Given the description of an element on the screen output the (x, y) to click on. 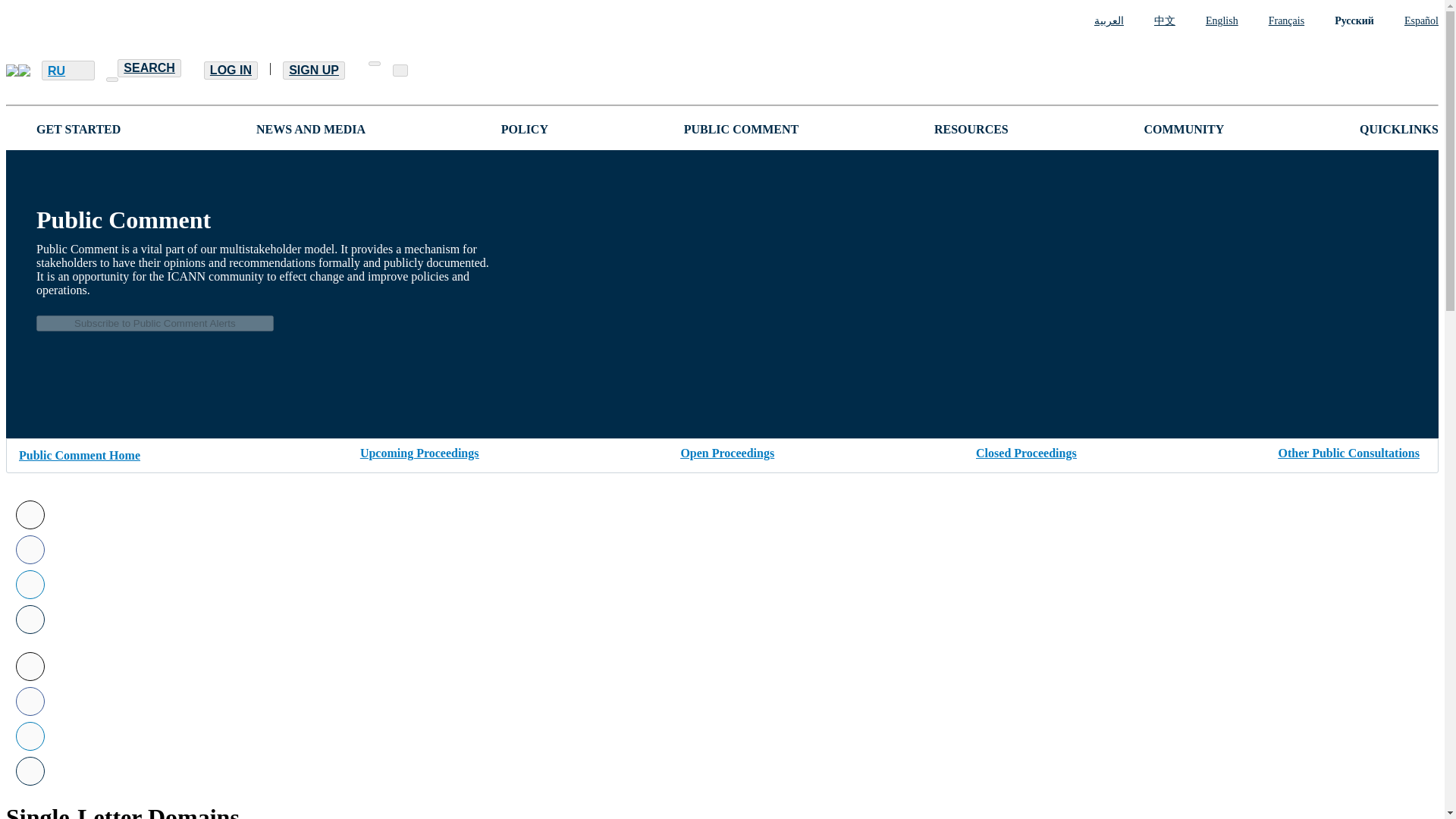
LOG IN (230, 70)
PUBLIC COMMENT (741, 128)
English (1206, 20)
Subscribe to Public Comment Alerts (154, 322)
NEWS AND MEDIA (310, 128)
Other Public Consultations (1348, 451)
SIGN UP (313, 70)
Logo (17, 70)
POLICY (524, 128)
Open Proceedings (726, 451)
Subscribe to Public Comment Alerts (154, 323)
COMMUNITY (1183, 128)
RU (68, 70)
GET STARTED (78, 128)
Upcoming Proceedings (419, 451)
